Given the description of an element on the screen output the (x, y) to click on. 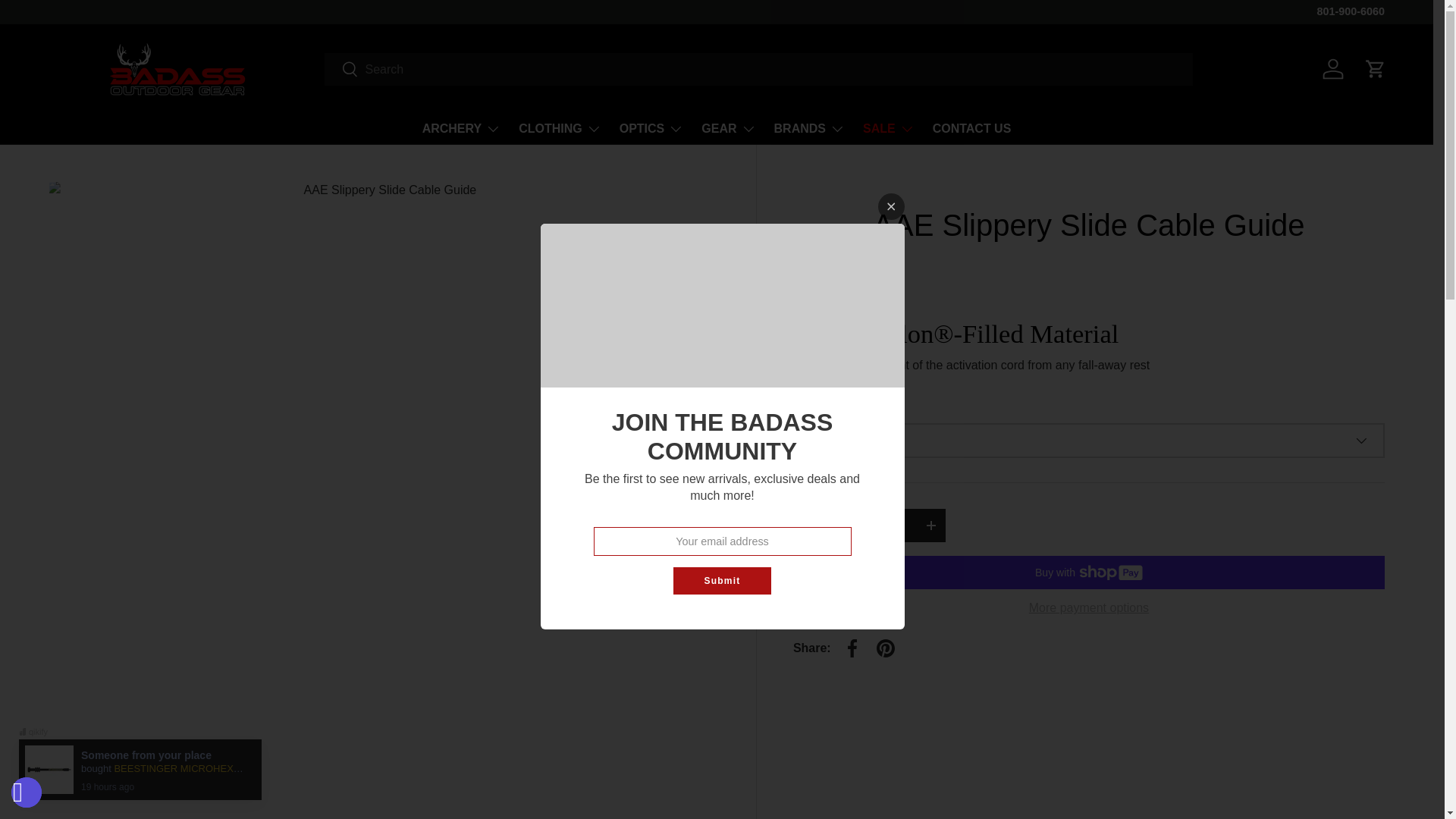
Cart (1374, 68)
Log in (1332, 68)
ARCHERY (461, 128)
CLOTHING (559, 128)
1 (870, 525)
Search (341, 69)
801-900-6060 (1350, 12)
SKIP TO CONTENT (69, 21)
